Given the description of an element on the screen output the (x, y) to click on. 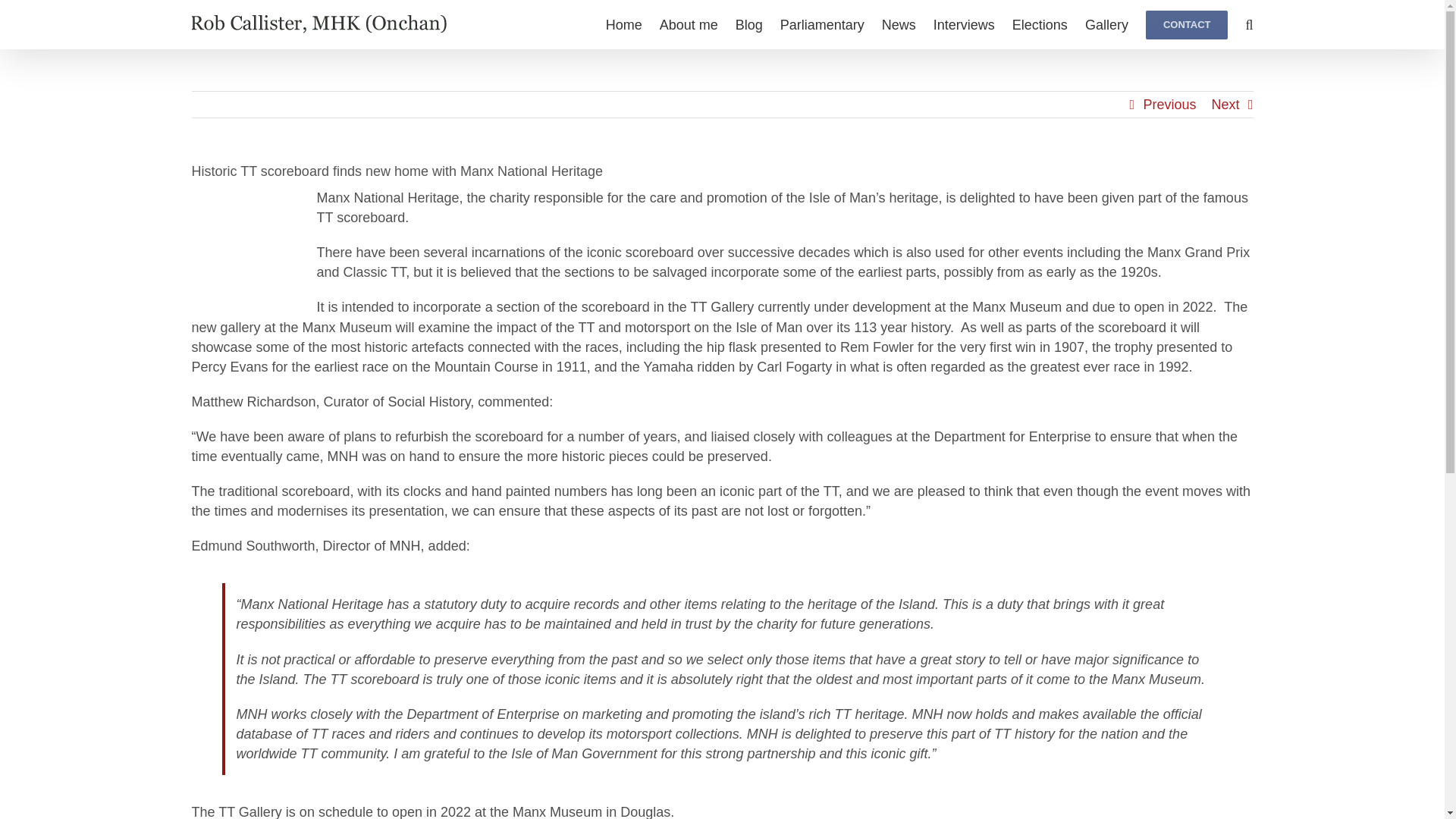
Interviews (963, 24)
Elections (1039, 24)
About me (688, 24)
Previous (1168, 104)
CONTACT (1186, 24)
Next (1225, 104)
Parliamentary (822, 24)
